Given the description of an element on the screen output the (x, y) to click on. 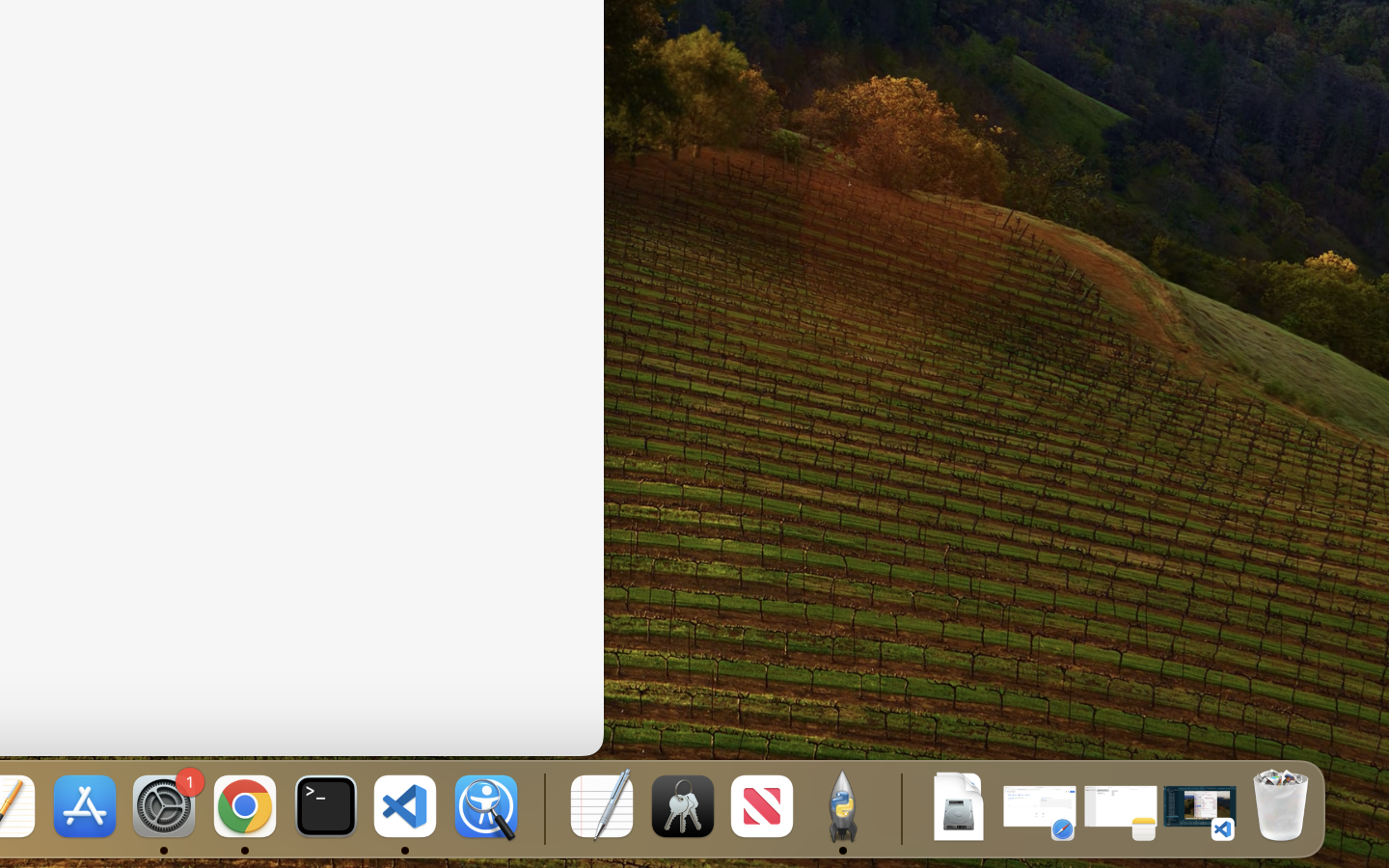
0.4285714328289032 Element type: AXDockItem (541, 807)
